Given the description of an element on the screen output the (x, y) to click on. 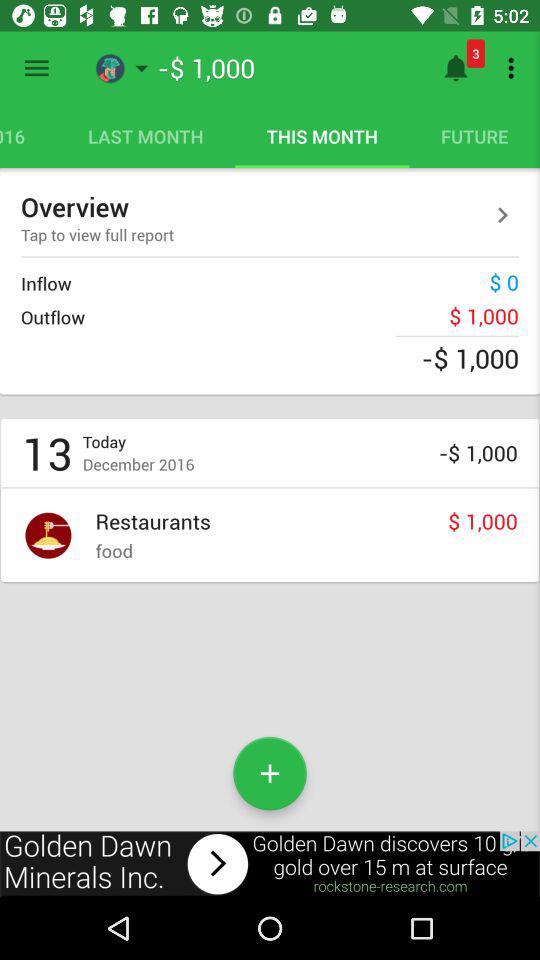
advertisement (270, 864)
